Given the description of an element on the screen output the (x, y) to click on. 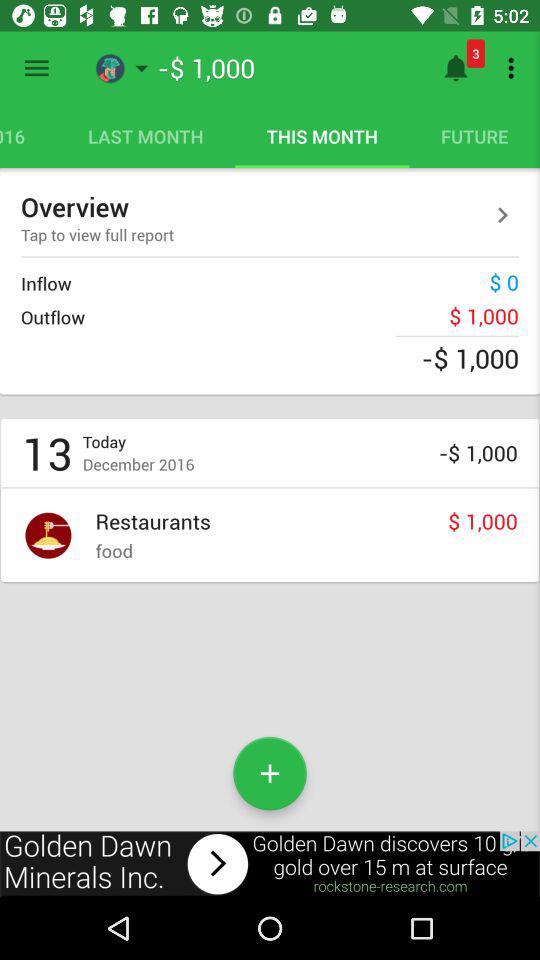
advertisement (270, 864)
